Given the description of an element on the screen output the (x, y) to click on. 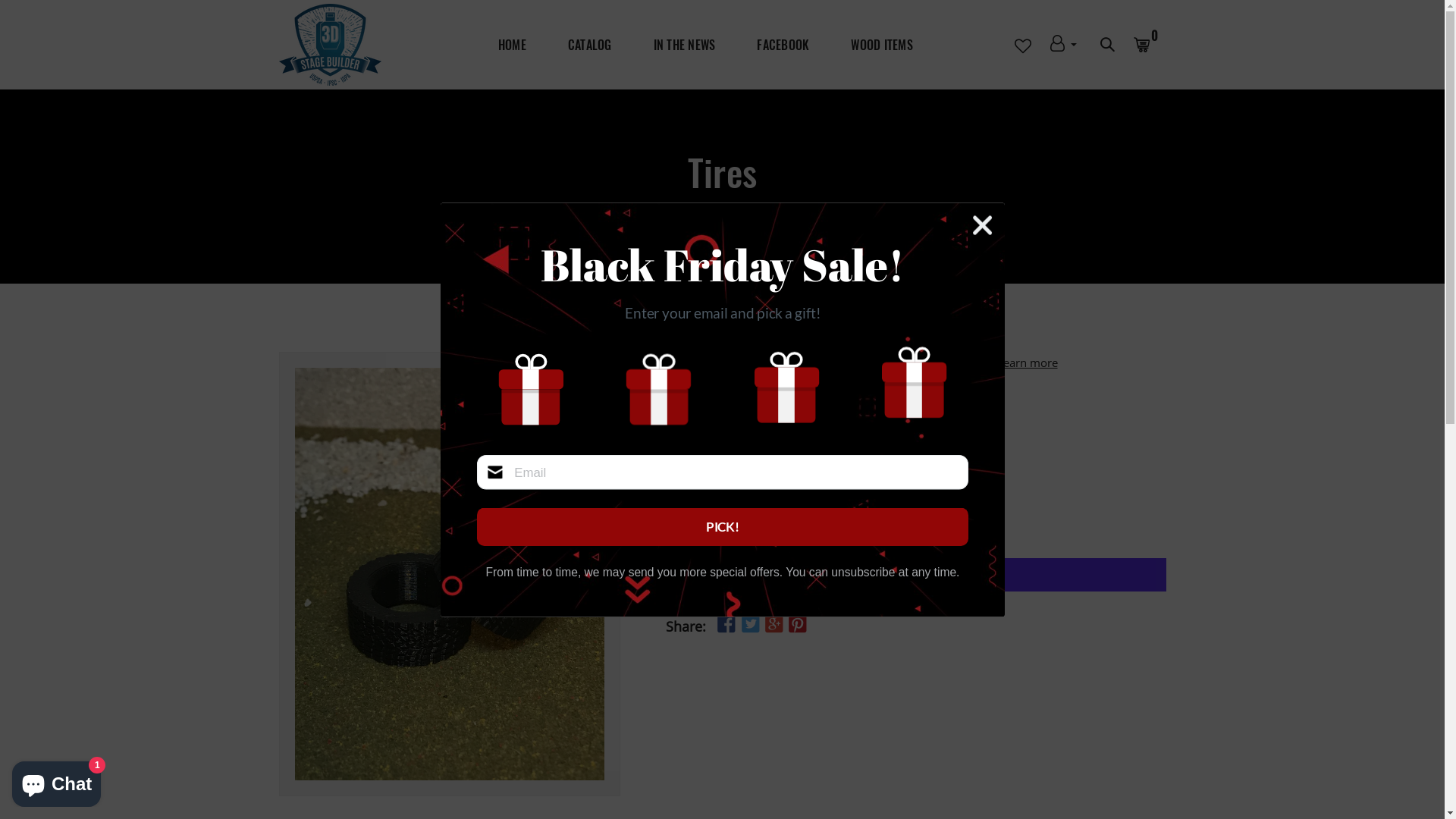
Share on Google+ Element type: hover (773, 623)
Wishlist Element type: hover (782, 523)
FACEBOOK Element type: text (782, 44)
IN THE NEWS Element type: text (684, 44)
WOOD ITEMS Element type: text (881, 44)
Home Element type: text (700, 208)
HOME Element type: text (512, 44)
0 Element type: text (1149, 44)
Follow us on Facebook Element type: hover (725, 623)
Add to cart Element type: text (707, 523)
CATALOG Element type: text (589, 44)
Shopify online store chat Element type: hover (56, 780)
Follow us on Twitter Element type: hover (749, 623)
Follow us on Pinterest Element type: hover (797, 623)
More payment options Element type: text (915, 600)
